Given the description of an element on the screen output the (x, y) to click on. 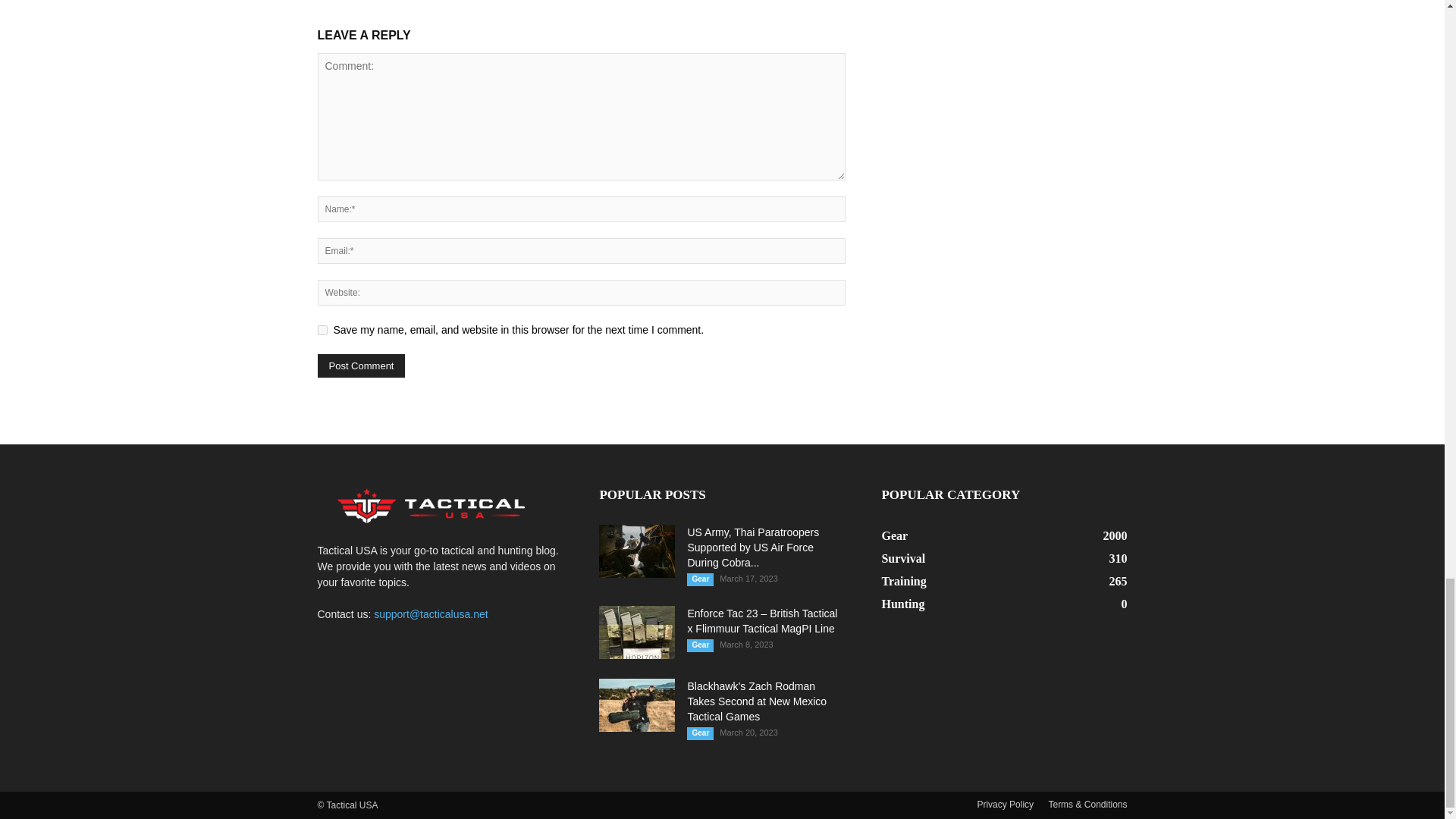
Post Comment (360, 365)
yes (321, 329)
